Given the description of an element on the screen output the (x, y) to click on. 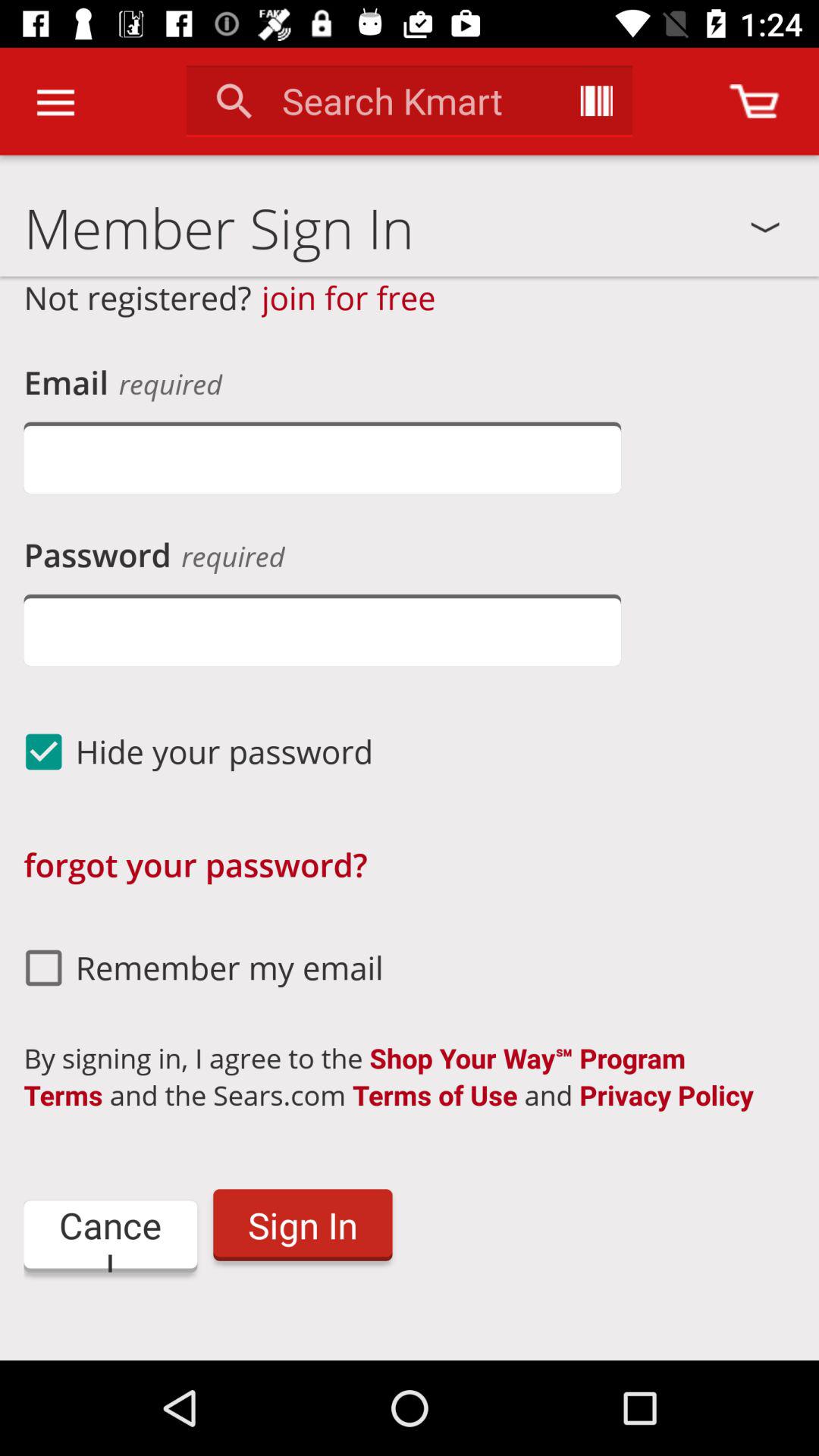
swipe until register icon (409, 1341)
